Given the description of an element on the screen output the (x, y) to click on. 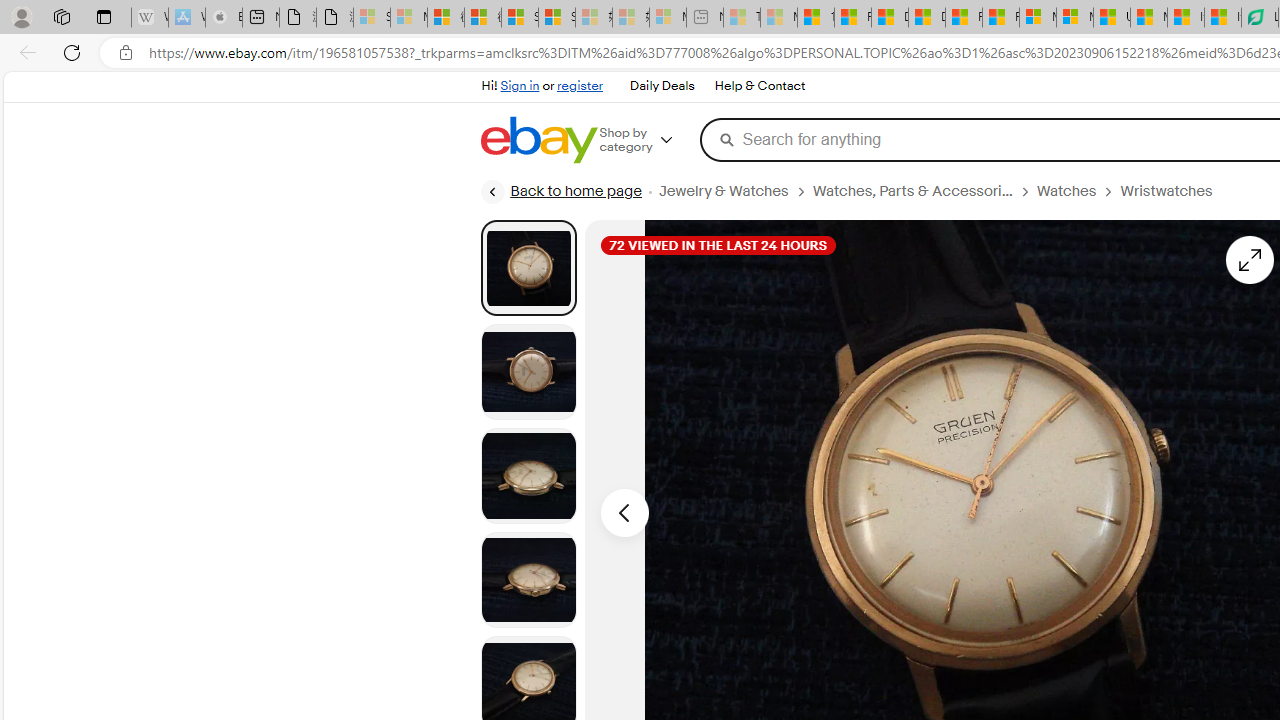
Sign in (520, 85)
Microsoft account | Account Checkup - Sleeping (668, 17)
eBay Home (538, 139)
Daily Deals (662, 86)
Wristwatches (1174, 191)
Opens image gallery (1248, 259)
Sign in to your Microsoft account - Sleeping (372, 17)
Watches (1078, 191)
Picture 3 of 8 (528, 475)
Watches (1065, 191)
register (579, 85)
